Given the description of an element on the screen output the (x, y) to click on. 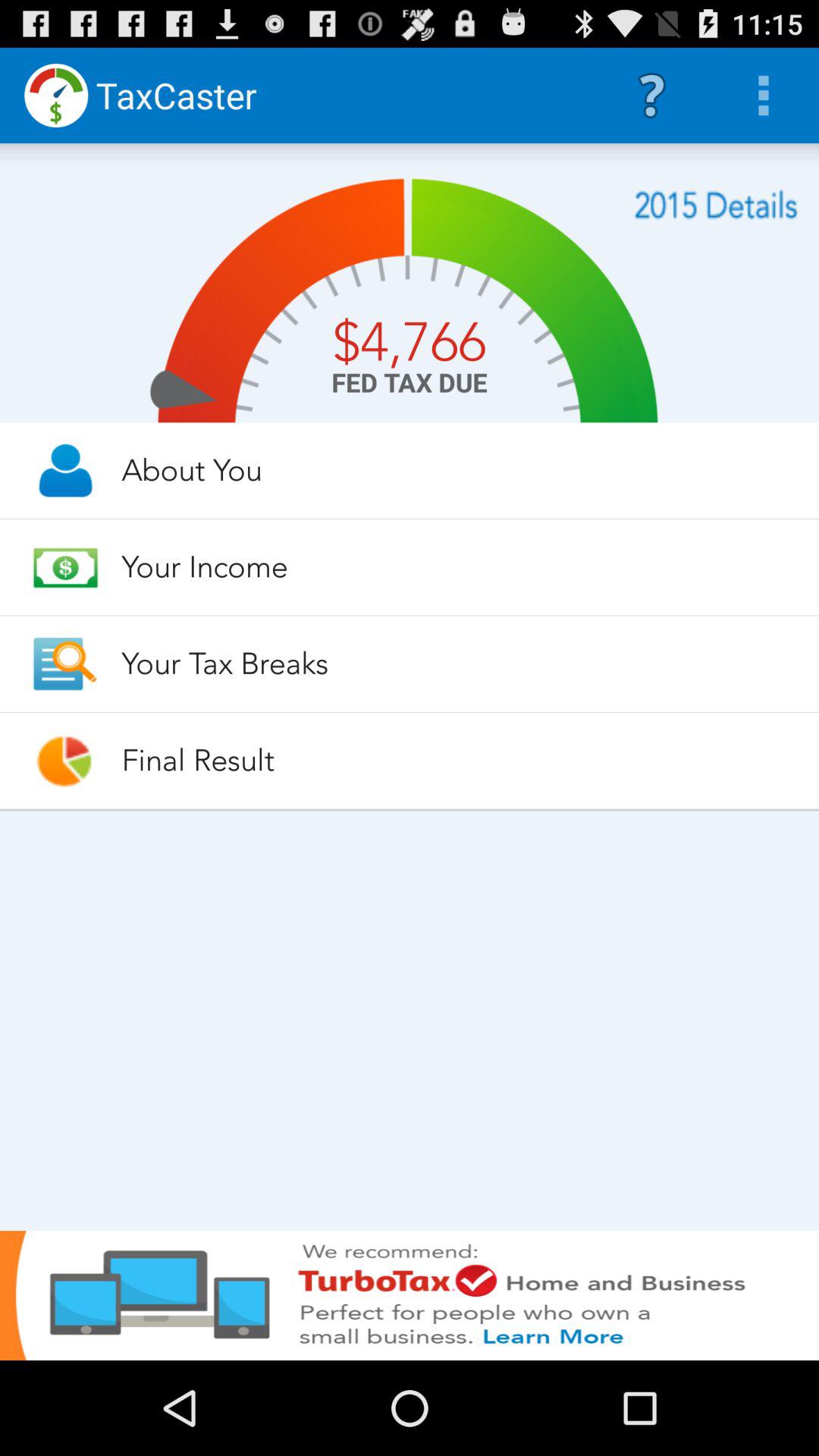
open item above the final result icon (456, 663)
